Given the description of an element on the screen output the (x, y) to click on. 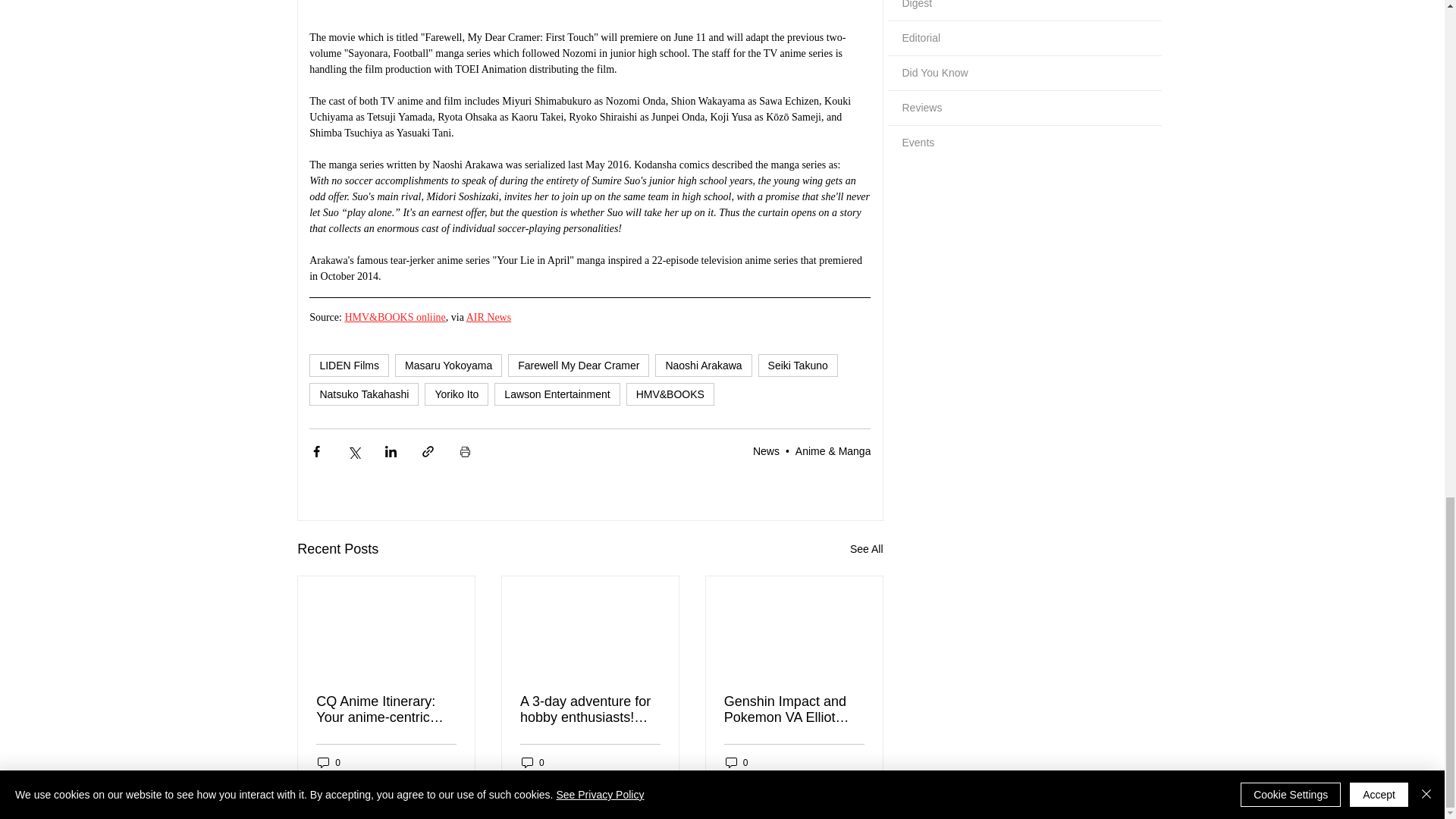
News (765, 451)
Yoriko Ito (456, 394)
Lawson Entertainment (557, 394)
Seiki Takuno (798, 364)
Masaru Yokoyama (448, 364)
See All (866, 549)
LIDEN Films (348, 364)
0 (532, 762)
0 (328, 762)
0 (736, 762)
Natsuko Takahashi (363, 394)
Naoshi Arakawa (703, 364)
Farewell My Dear Cramer (578, 364)
